Given the description of an element on the screen output the (x, y) to click on. 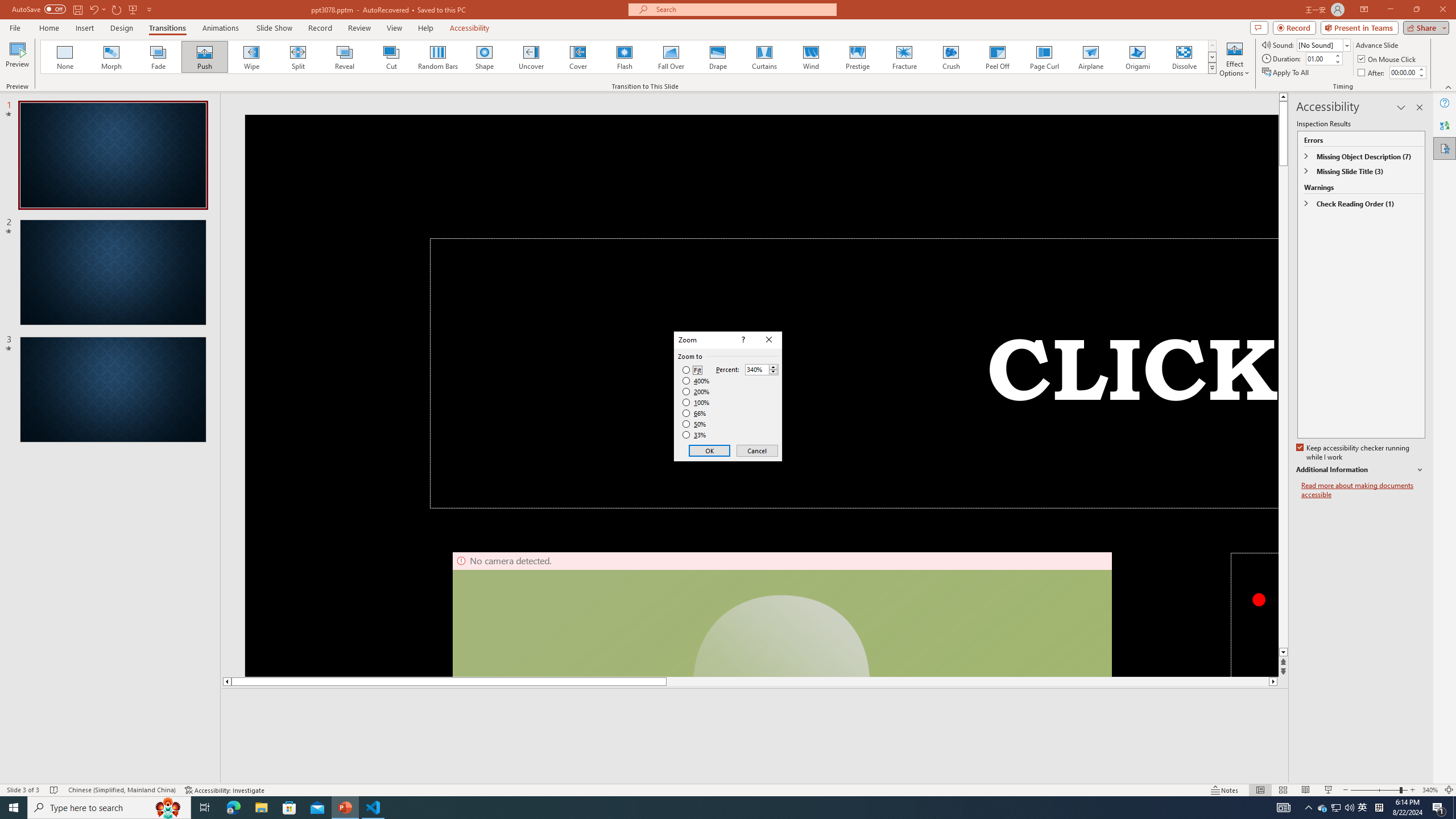
Fall Over (670, 56)
100% (696, 402)
Fracture (903, 56)
Crush (950, 56)
Transition Effects (1212, 67)
